Given the description of an element on the screen output the (x, y) to click on. 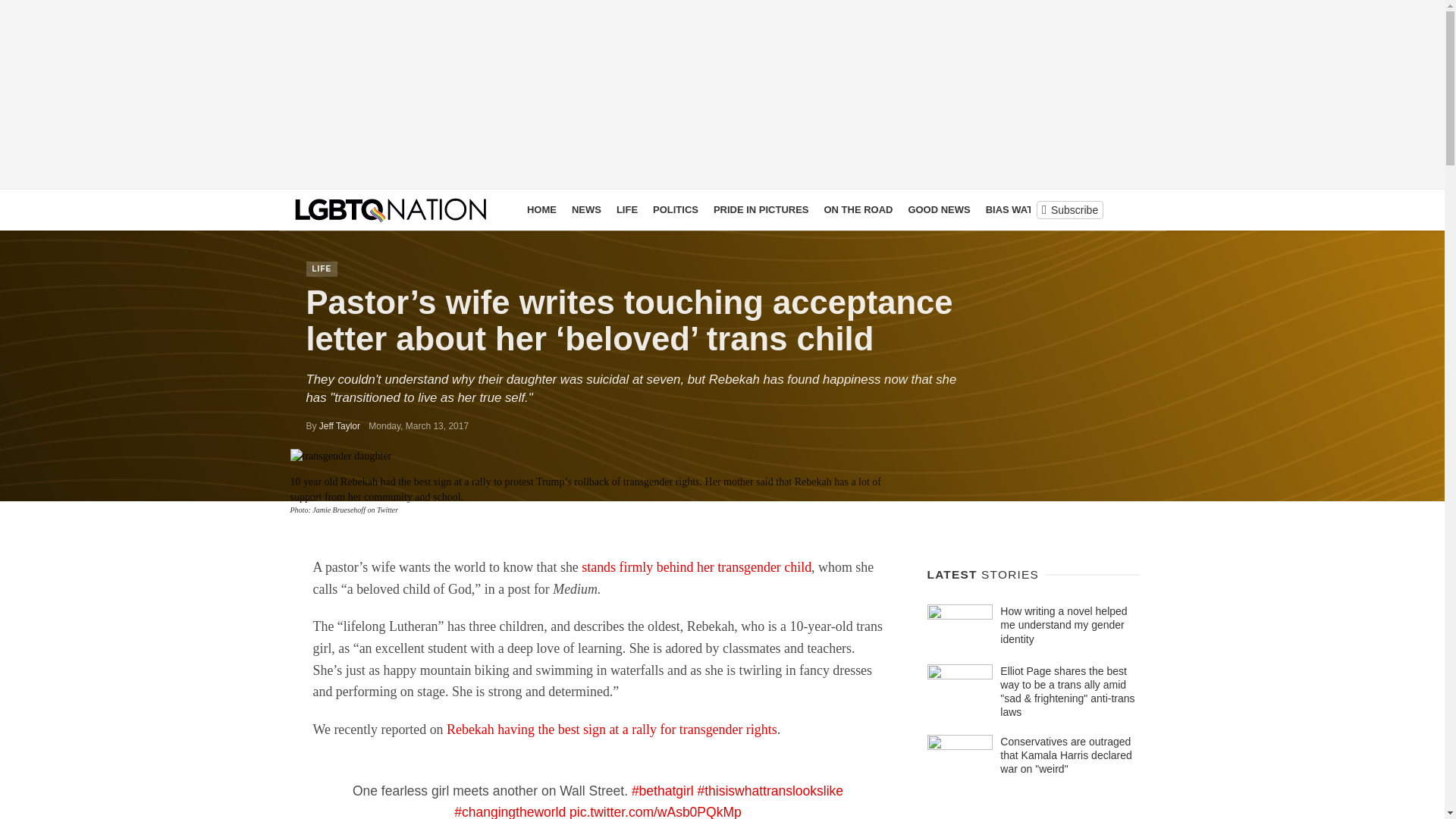
Jeff Taylor (338, 425)
HOME (541, 209)
COMMENTARY (1097, 209)
ON THE ROAD (857, 209)
BIAS WATCH (1016, 209)
LIFE (321, 268)
LIFE (626, 209)
GOOD NEWS (937, 209)
Posts by Jeff Taylor (338, 425)
Subscribe (1069, 209)
POLITICS (675, 209)
NEWS (586, 209)
Monday, March 13, 2017 pm31 17:00:47 (418, 425)
PRIDE IN PICTURES (761, 209)
